Given the description of an element on the screen output the (x, y) to click on. 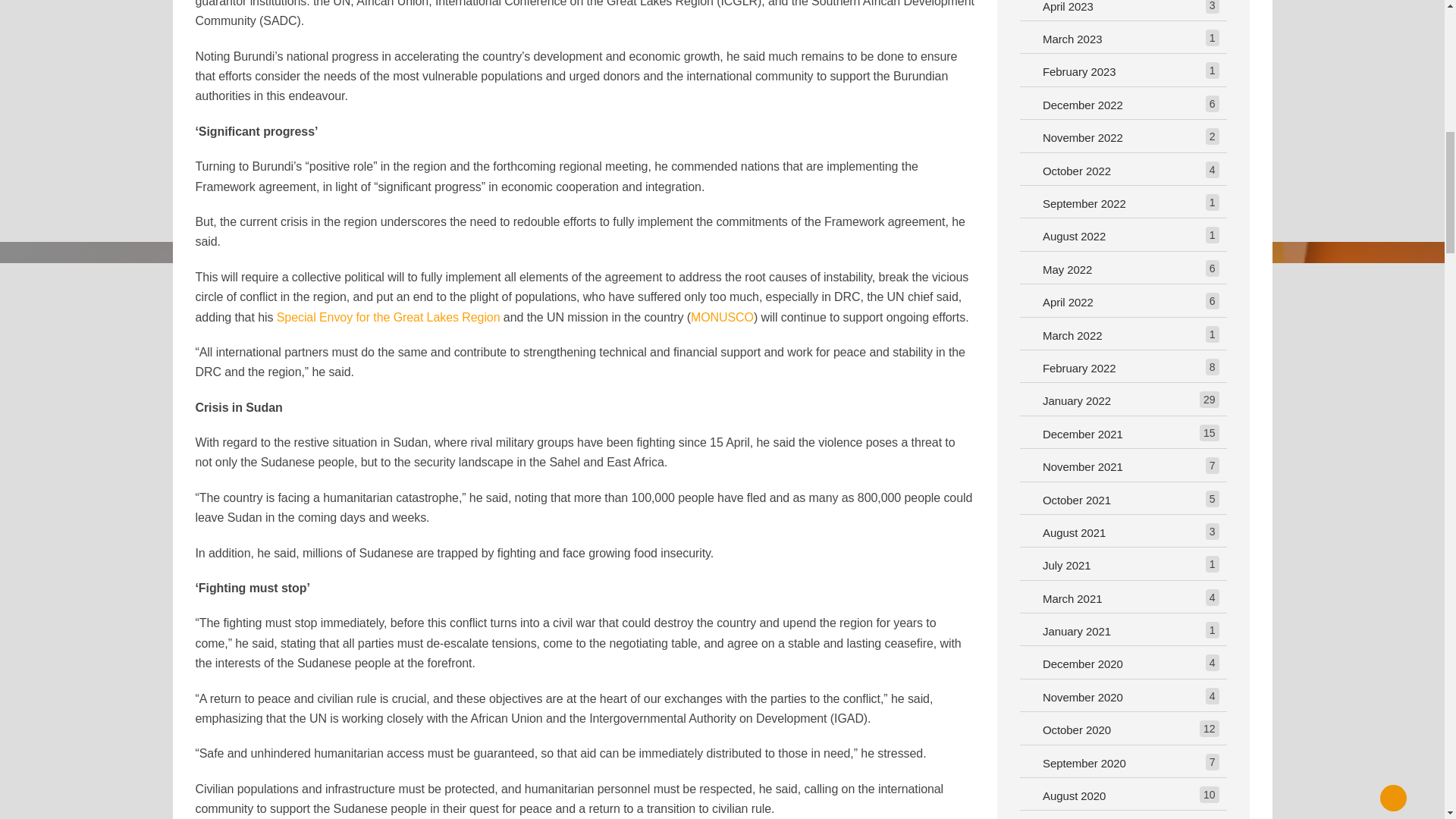
MONUSCO (722, 317)
Special Envoy for the Great Lakes Region (388, 317)
